Given the description of an element on the screen output the (x, y) to click on. 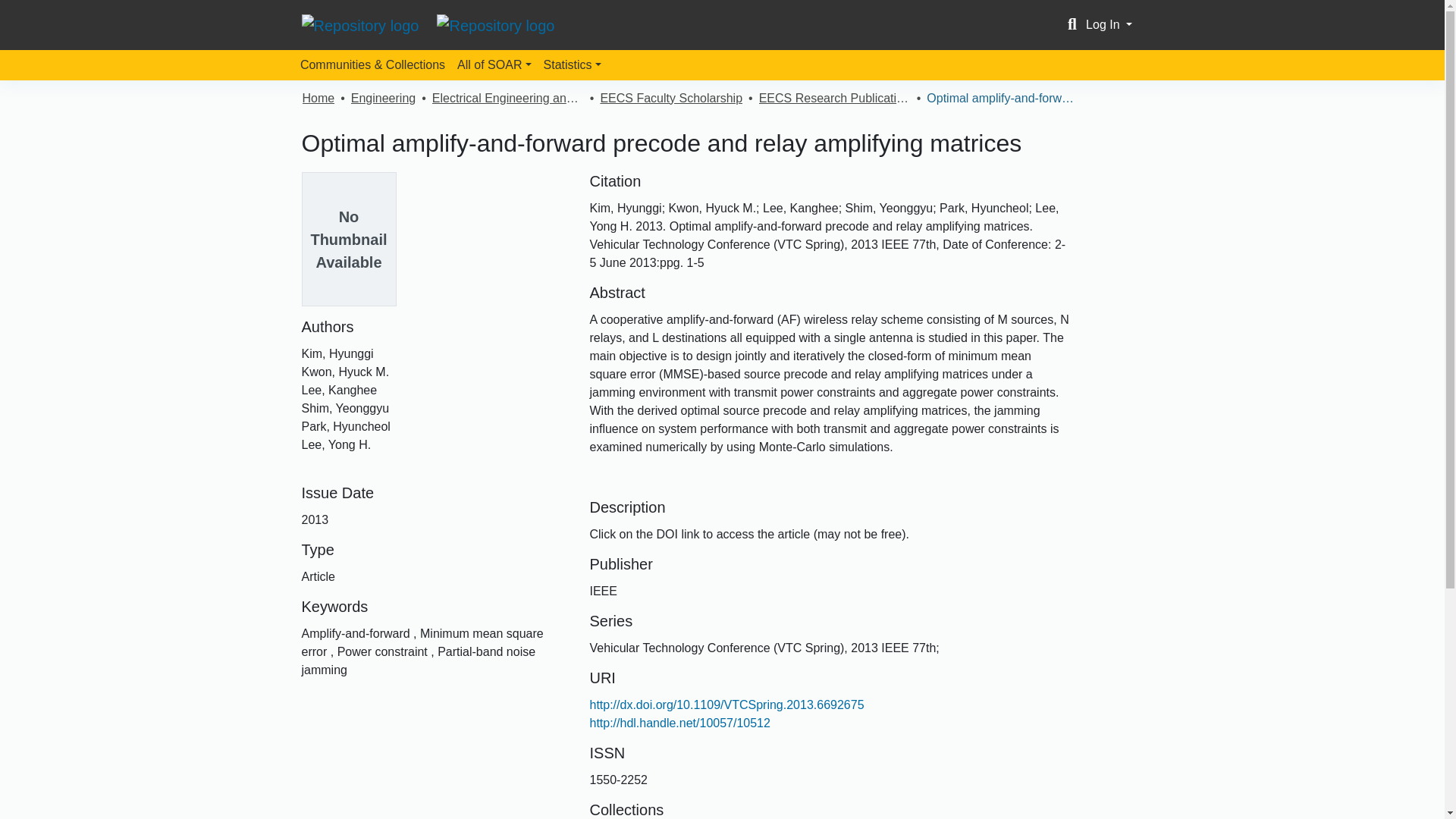
All of SOAR (494, 64)
Search (1072, 24)
Engineering (382, 98)
Statistics (572, 64)
Log In (1108, 24)
EECS Research Publications (834, 98)
Electrical Engineering and Computer Science (507, 98)
Home (317, 98)
EECS Faculty Scholarship (670, 98)
